Given the description of an element on the screen output the (x, y) to click on. 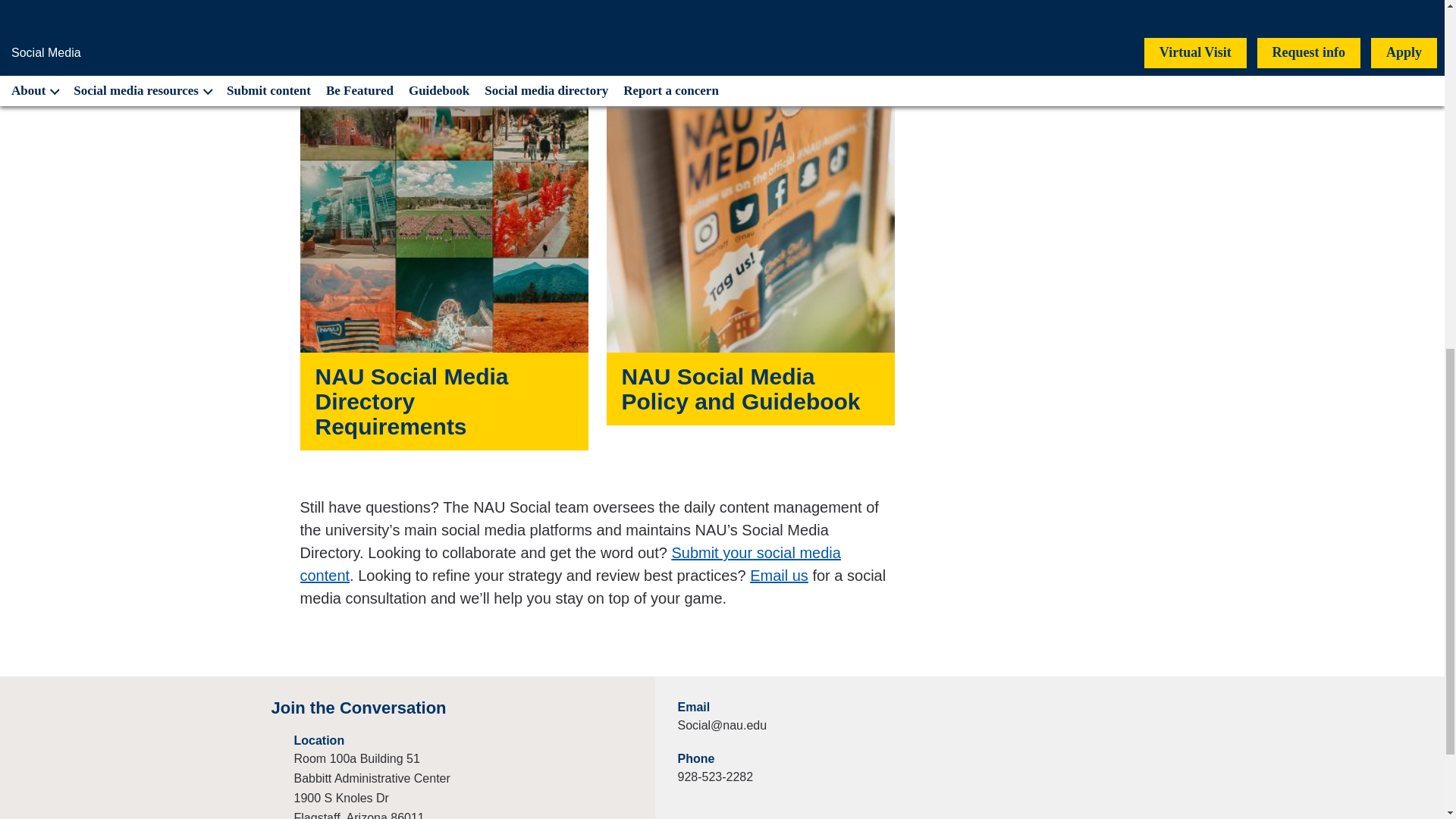
928-523-2282 (716, 776)
Email us (778, 575)
Social Media Consultation  (778, 575)
Submit your social media content (570, 563)
